Given the description of an element on the screen output the (x, y) to click on. 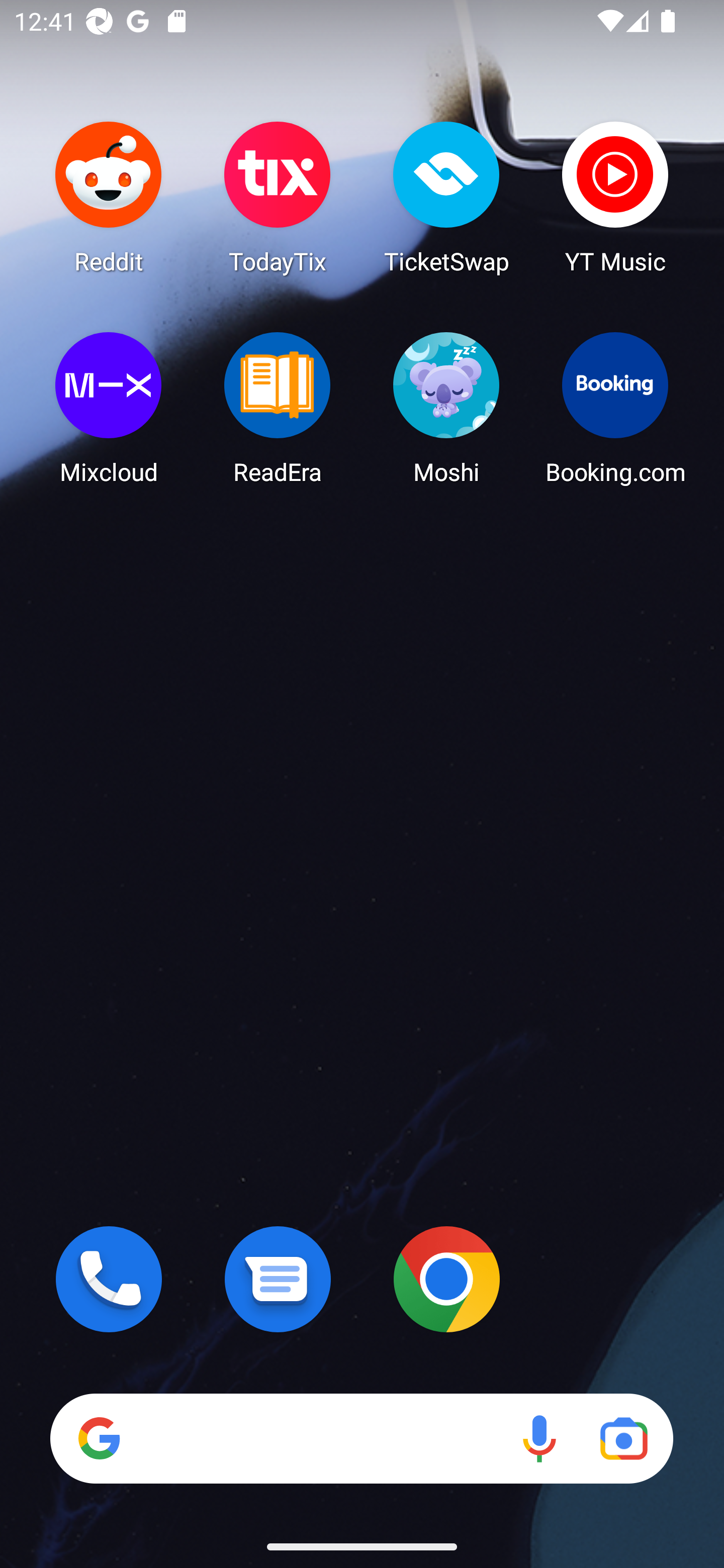
Reddit (108, 196)
TodayTix (277, 196)
TicketSwap (445, 196)
YT Music (615, 196)
Mixcloud (108, 407)
ReadEra (277, 407)
Moshi (445, 407)
Booking.com (615, 407)
Phone (108, 1279)
Messages (277, 1279)
Chrome (446, 1279)
Search Voice search Google Lens (361, 1438)
Voice search (539, 1438)
Google Lens (623, 1438)
